Given the description of an element on the screen output the (x, y) to click on. 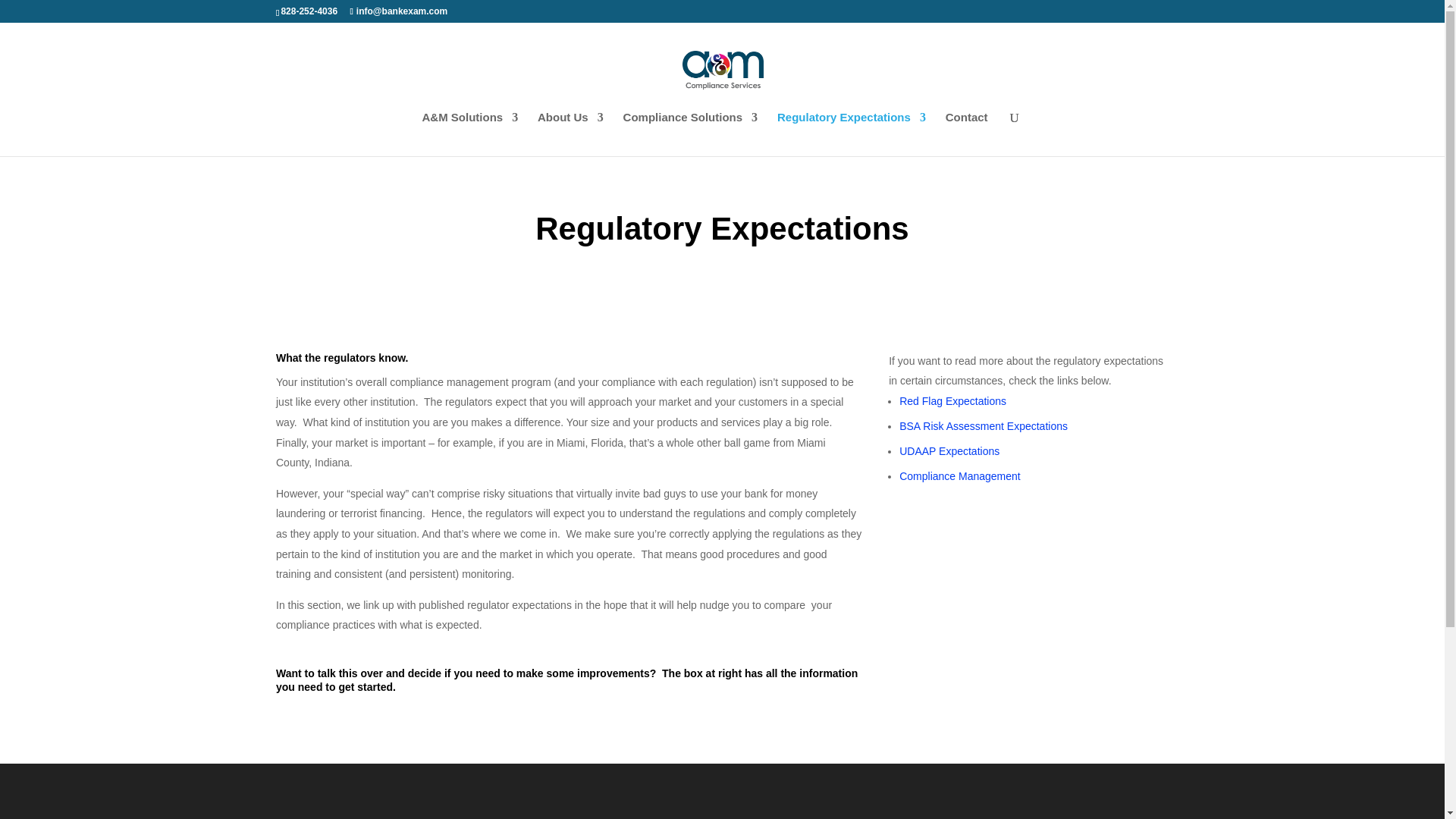
UDAAP Expectations (948, 451)
Regulatory Expectations (851, 128)
Compliance Management (959, 476)
BSA Risk Assessment Expectations (983, 426)
Compliance Solutions (690, 128)
Or fill out the contact form. (1024, 695)
About Us (570, 128)
Contact (966, 128)
Red Flag Expectations (952, 400)
